Given the description of an element on the screen output the (x, y) to click on. 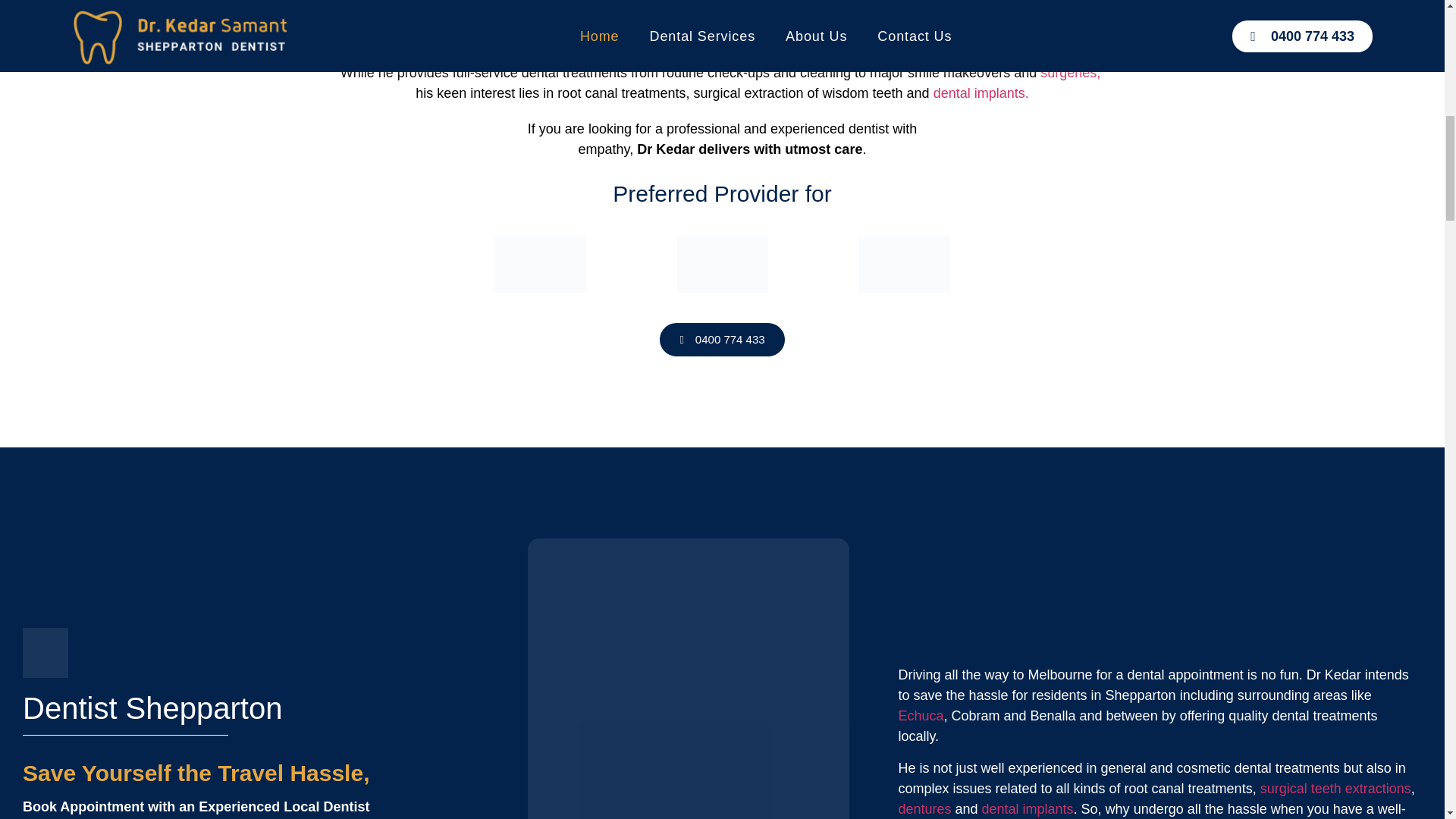
surgical teeth extractions (1335, 788)
dentures (924, 808)
surgeries, (1070, 72)
dental implants. (981, 92)
0400 774 433 (721, 339)
dental implants (1027, 808)
Echuca (920, 715)
